Given the description of an element on the screen output the (x, y) to click on. 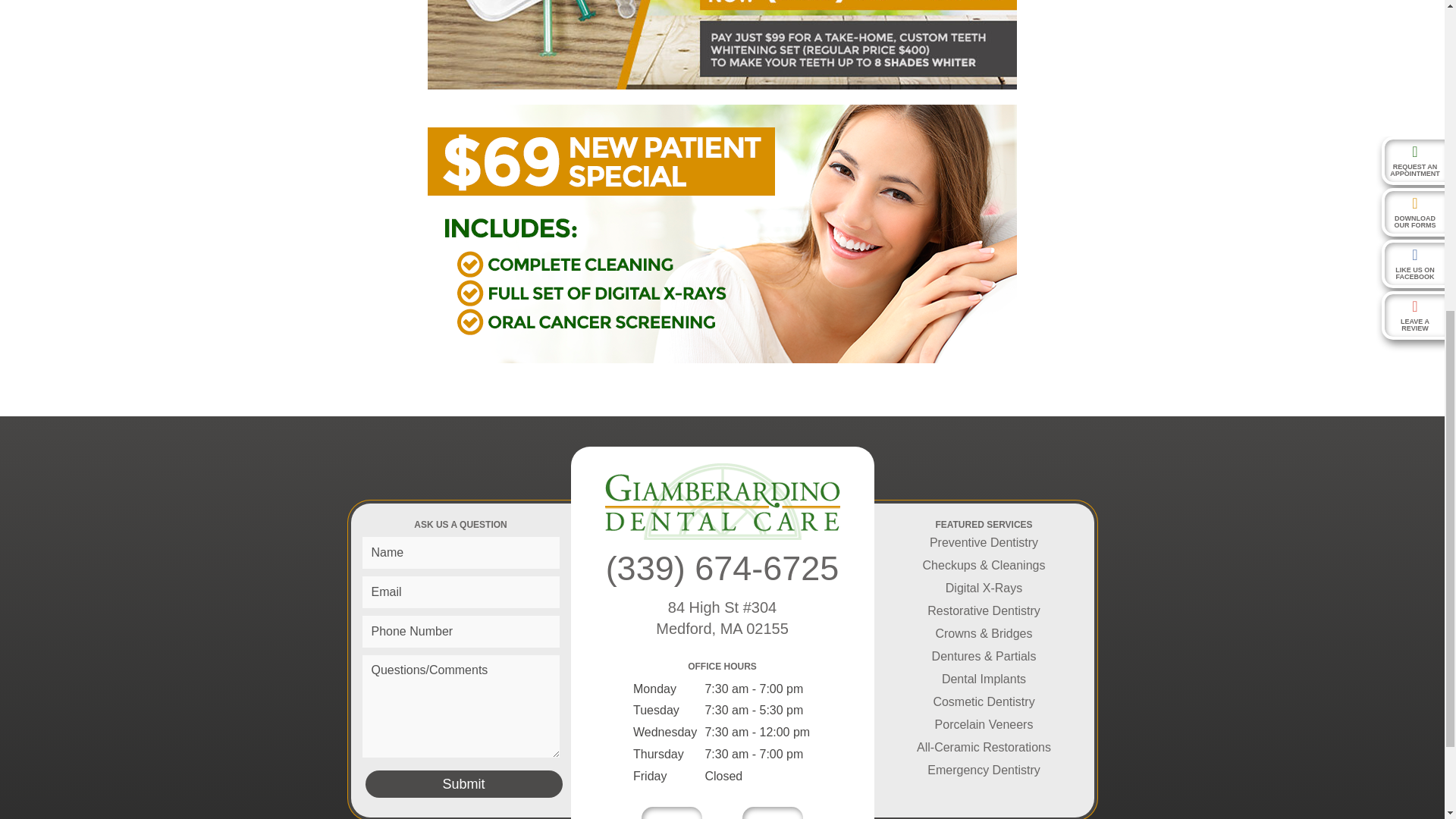
Submit (463, 783)
